Given the description of an element on the screen output the (x, y) to click on. 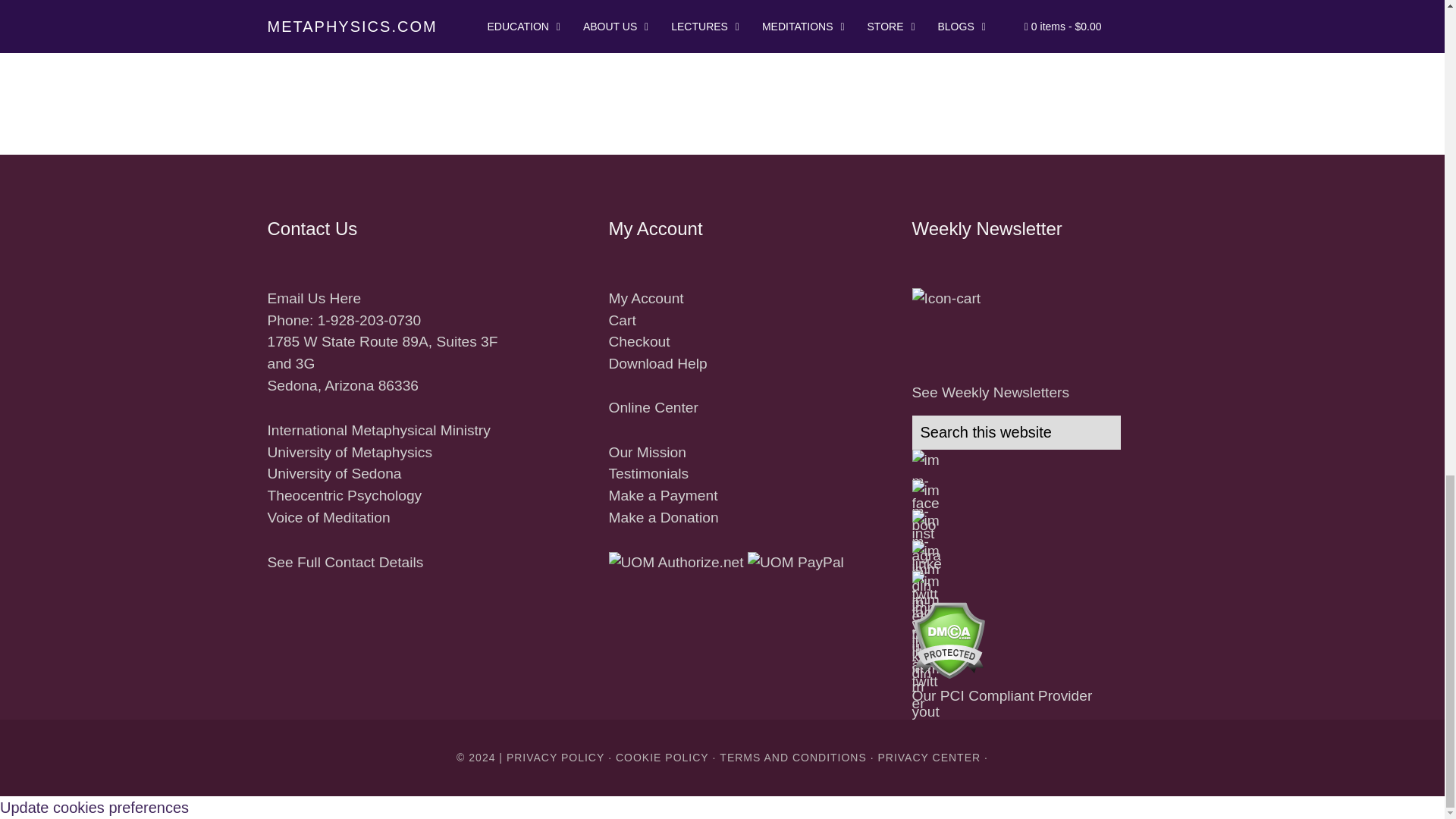
DMCA.com Protection Status (948, 674)
